Given the description of an element on the screen output the (x, y) to click on. 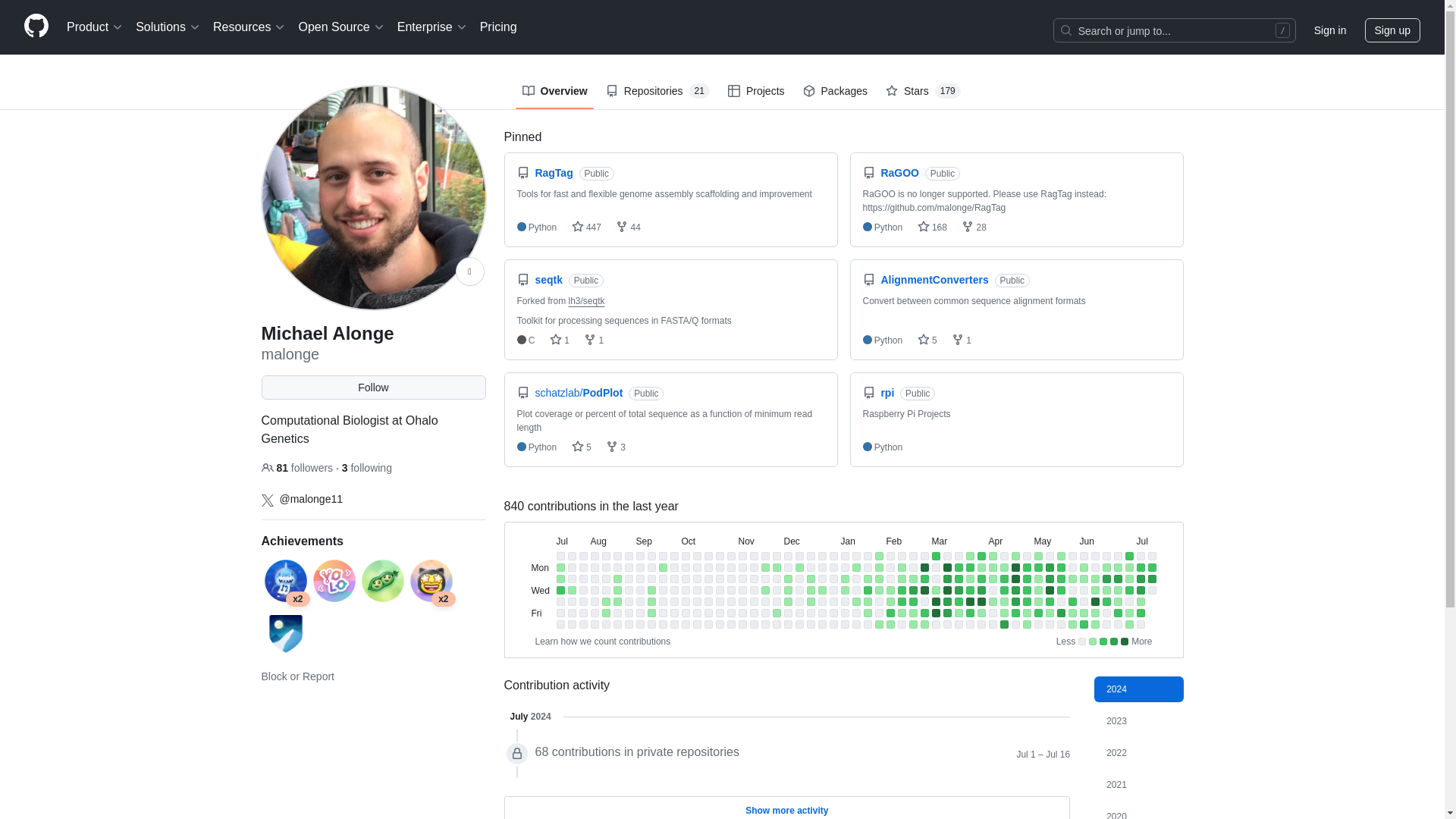
21 (699, 90)
X (266, 500)
Open Source (341, 27)
Solutions (167, 27)
Resources (249, 27)
179 (947, 90)
Product (95, 27)
